Given the description of an element on the screen output the (x, y) to click on. 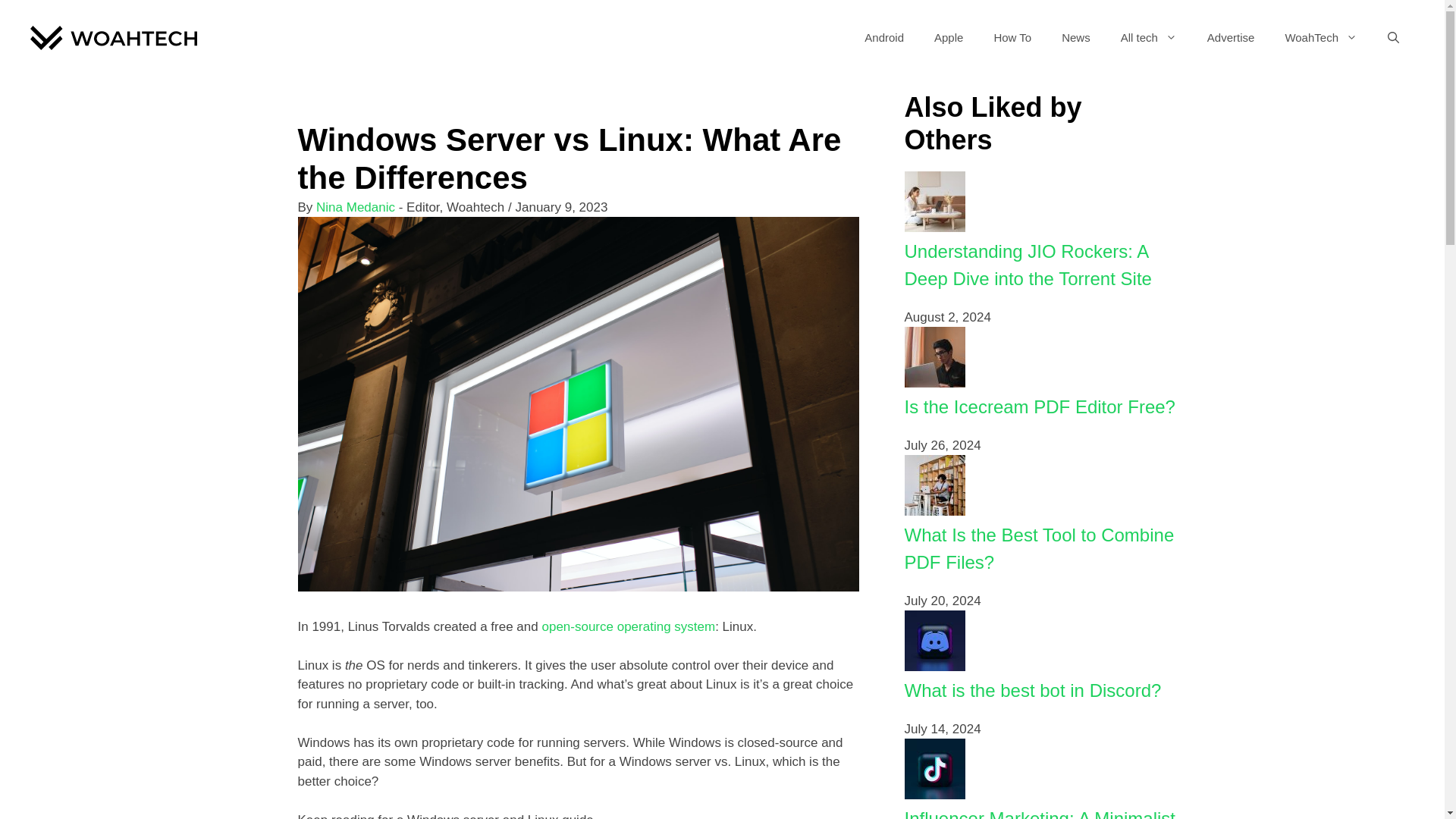
Understanding JIO Rockers: A Deep Dive into the Torrent Site (1027, 264)
What Is the Best Tool to Combine PDF Files? (1038, 548)
Android (883, 37)
What is the best bot in Discord? (933, 667)
How To (1012, 37)
Understanding JIO Rockers: A Deep Dive into the Torrent Site (1027, 264)
All tech (1148, 37)
Is the Icecream PDF Editor Free? (1039, 406)
Is the Icecream PDF Editor Free? (933, 382)
Is the Icecream PDF Editor Free? (1039, 406)
Apple (948, 37)
Advertise (1230, 37)
What is the best bot in Discord? (1032, 690)
What is the best bot in Discord? (1032, 690)
WoahTech (1321, 37)
